Given the description of an element on the screen output the (x, y) to click on. 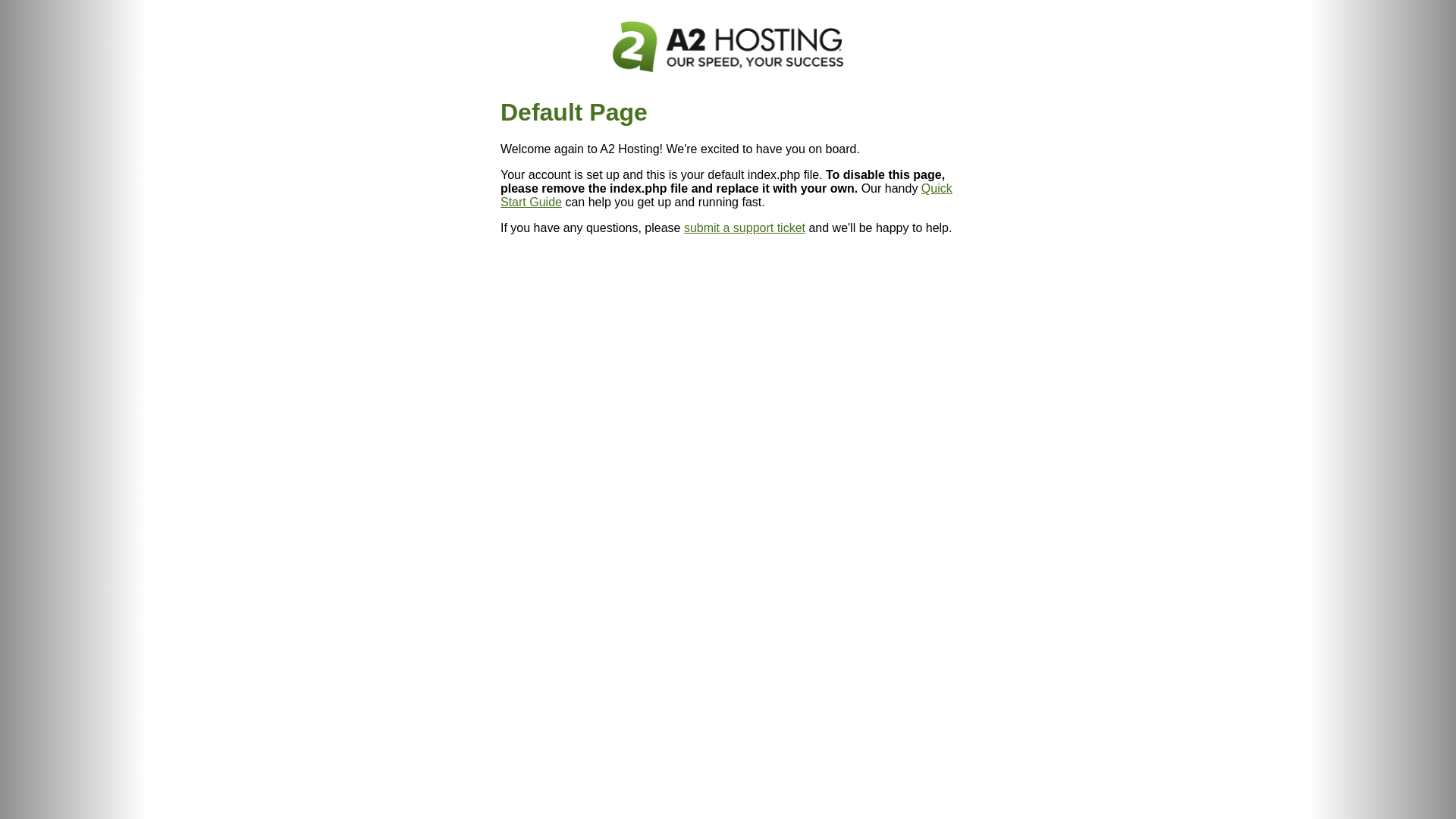
Quick Start Guide Element type: text (726, 195)
submit a support ticket Element type: text (744, 227)
